Given the description of an element on the screen output the (x, y) to click on. 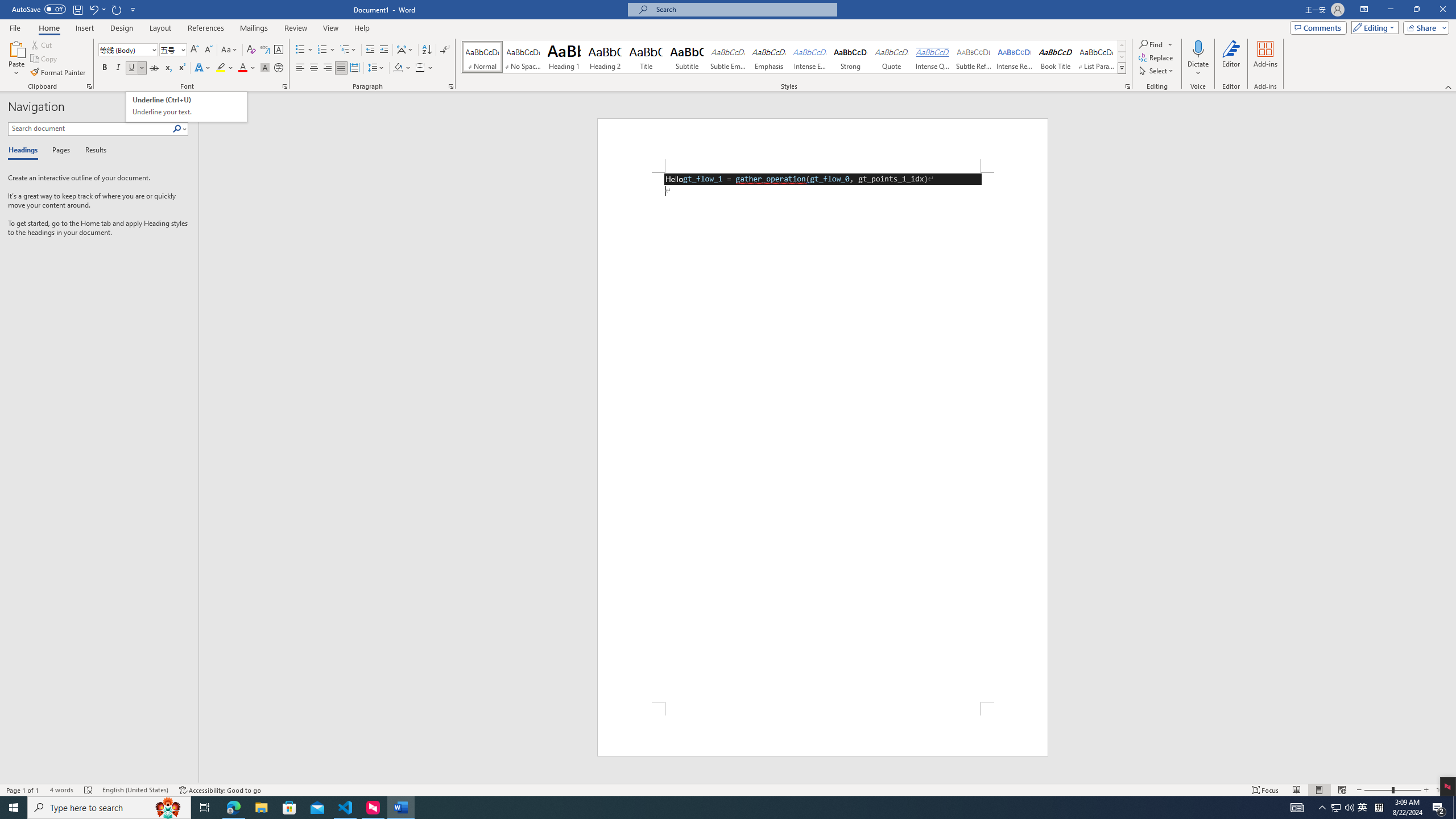
Undo Underline Style (92, 9)
